Given the description of an element on the screen output the (x, y) to click on. 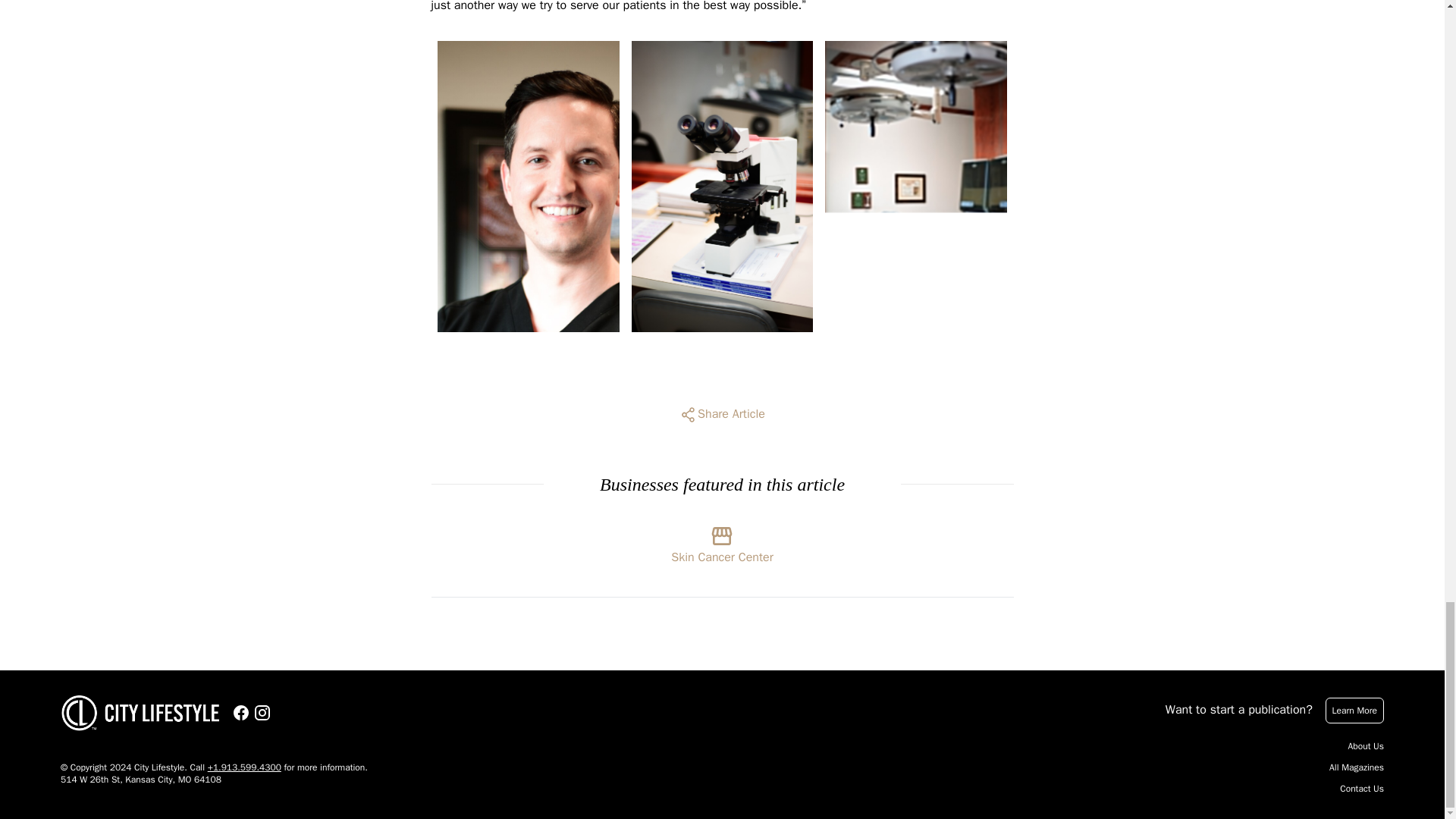
Skin Cancer Center (722, 540)
Learn More (1354, 710)
Share Article (722, 414)
About Us (1366, 746)
Contact Us (1361, 788)
All Magazines (1356, 767)
